Given the description of an element on the screen output the (x, y) to click on. 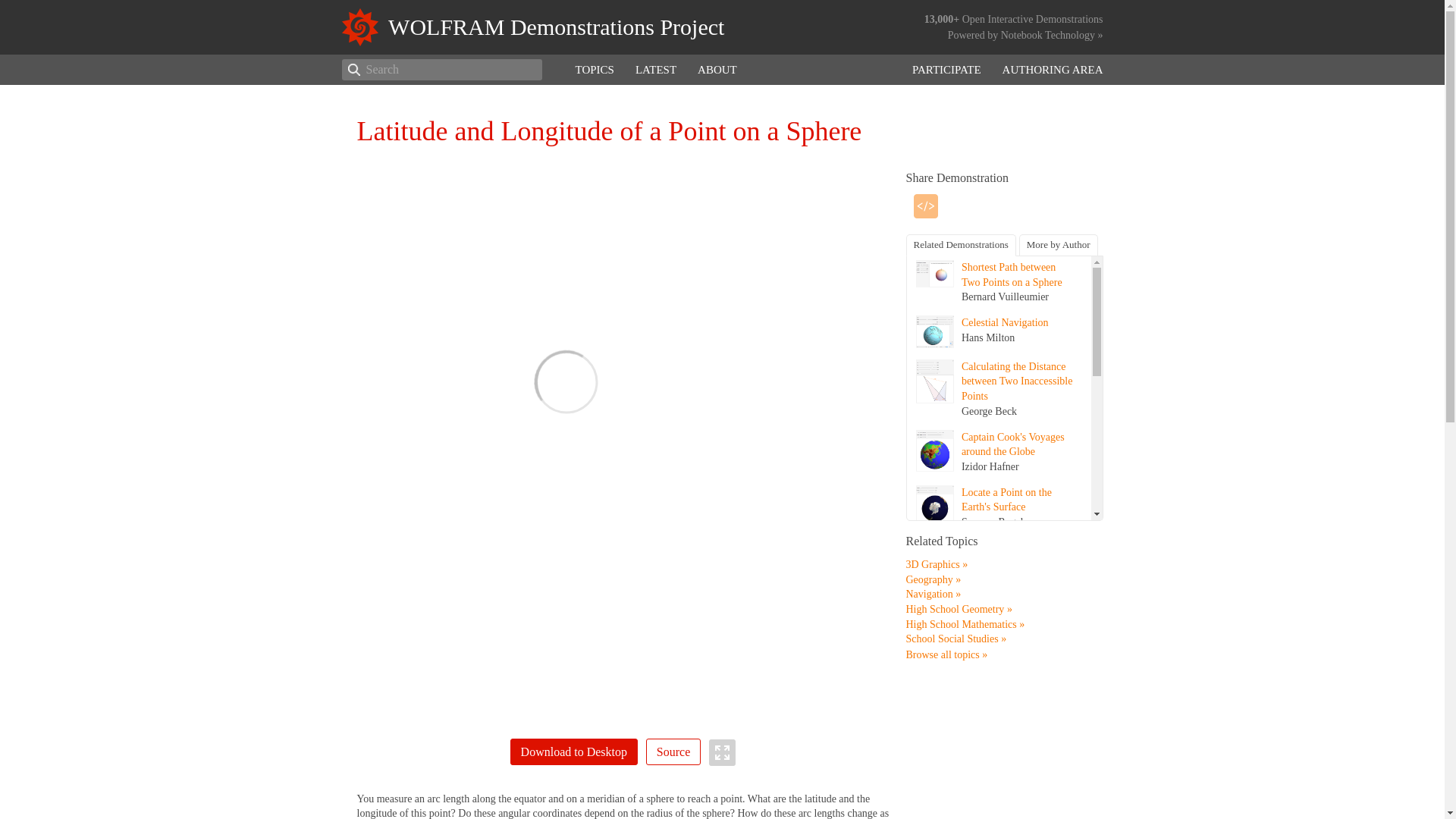
Shortest Path between Two Points on a Sphere (1011, 274)
Contributed by: Izidor Hafner (1012, 444)
PARTICIPATE (946, 70)
Contributed by: Bernard Vuilleumier (1011, 274)
Izidor Hafner (989, 466)
Contributed by: Izidor Hafner (1015, 625)
LATEST (655, 70)
AUTHORING AREA (1053, 70)
Contributed by: Erik Mahieu (1004, 562)
Celestial Navigation (1004, 322)
Bernard Vuilleumier (1004, 296)
Related Demonstrations (959, 245)
Contributed by: Enrique Zeleny (1015, 792)
George Beck (988, 410)
Contributed by: Izidor Hafner (995, 682)
